Given the description of an element on the screen output the (x, y) to click on. 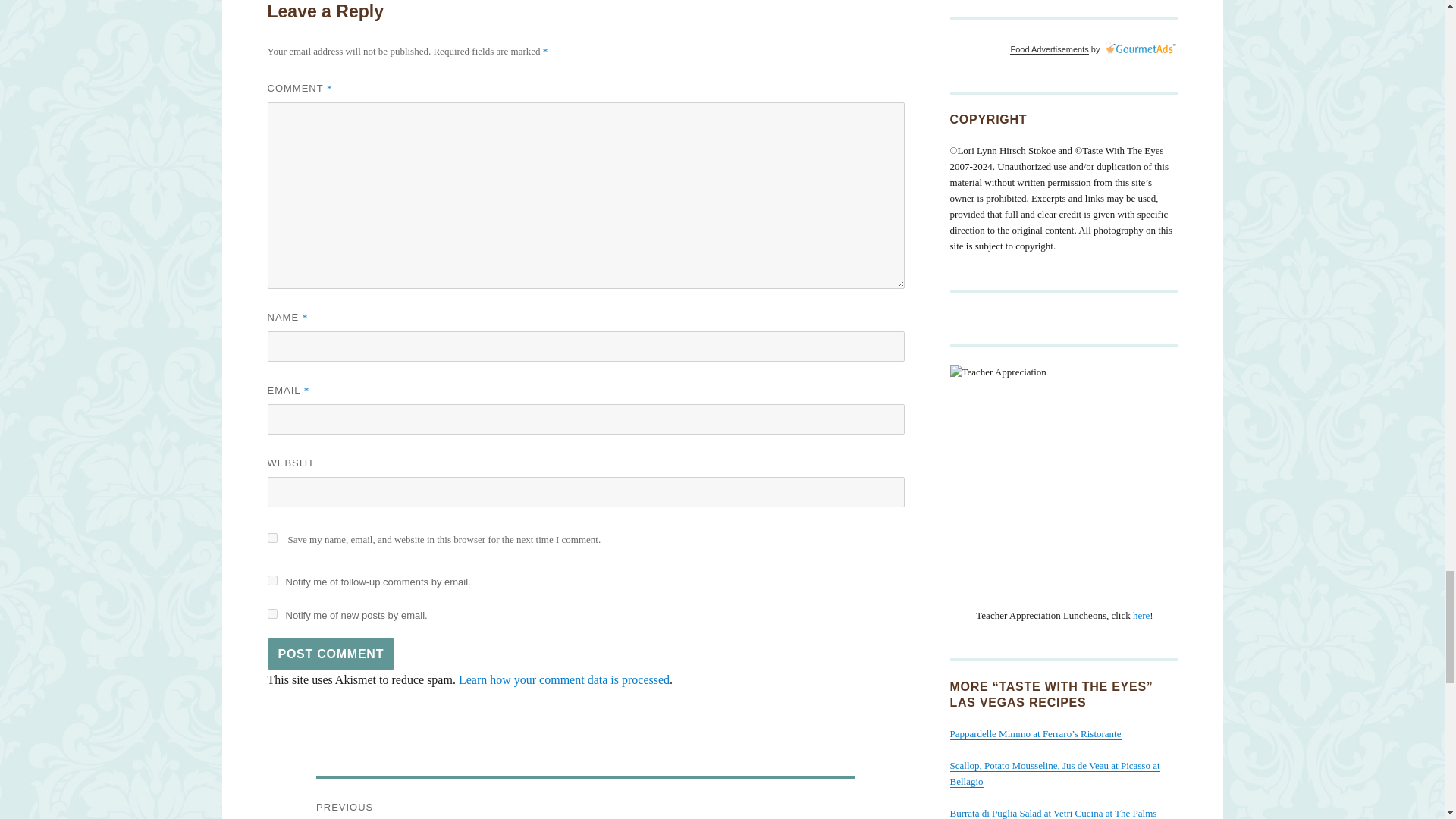
subscribe (271, 614)
subscribe (271, 580)
Food Advertisements (1048, 49)
yes (271, 537)
Post Comment (330, 653)
